Given the description of an element on the screen output the (x, y) to click on. 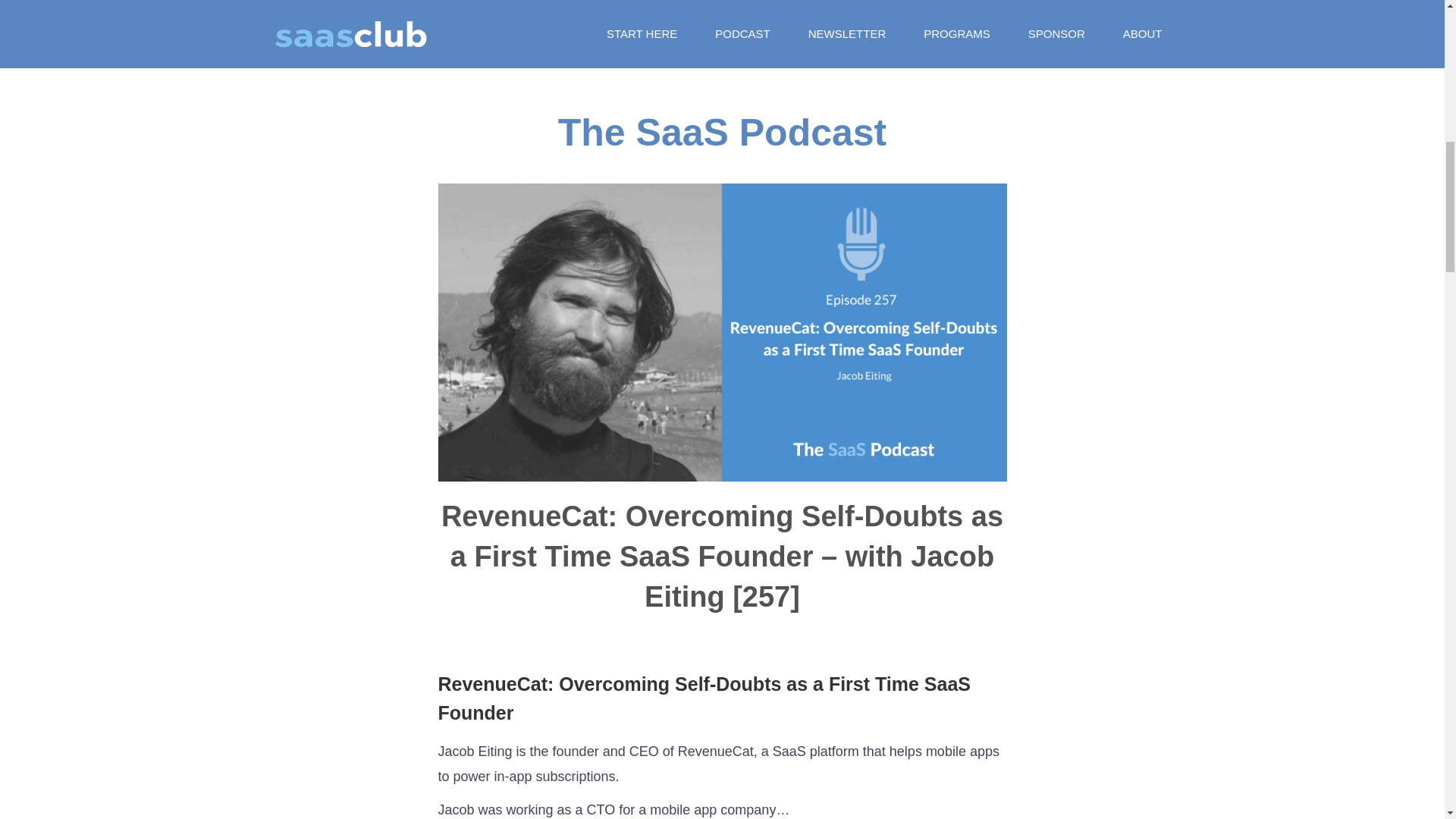
The SaaS Podcast (721, 132)
